Given the description of an element on the screen output the (x, y) to click on. 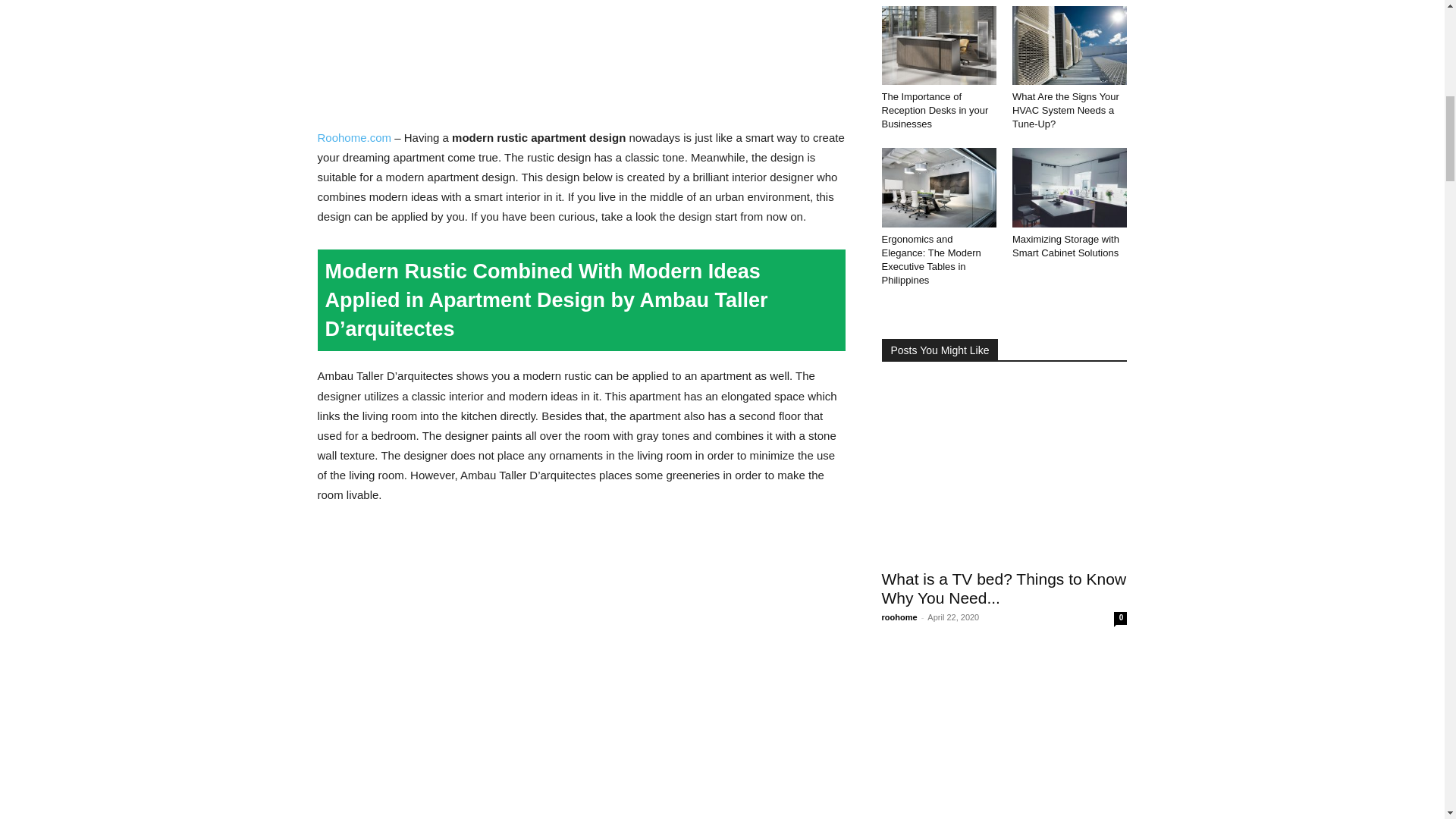
Advertisement (580, 61)
